Given the description of an element on the screen output the (x, y) to click on. 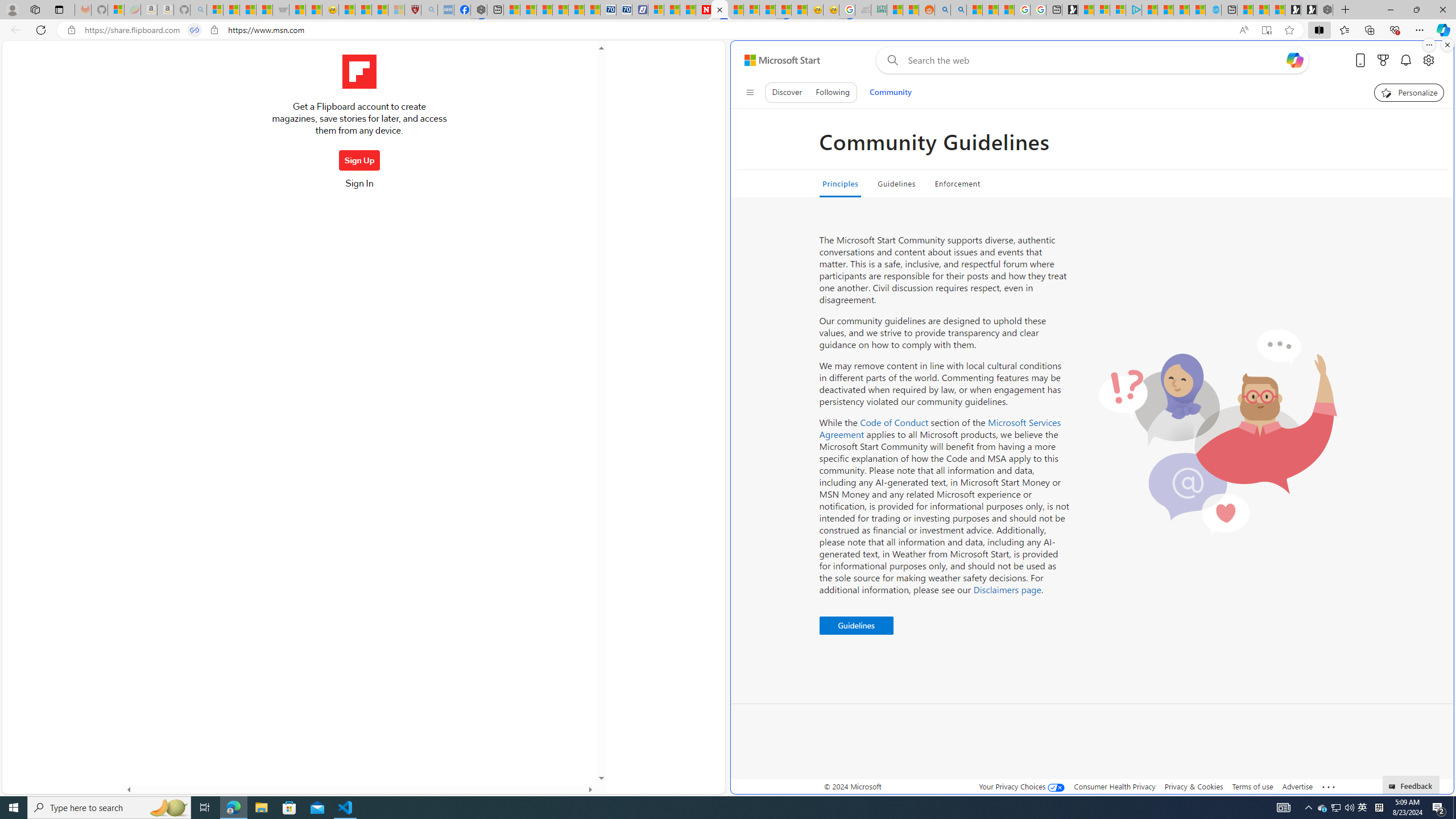
Microsoft-Report a Concern to Bing (116, 9)
Science - MSN (379, 9)
MSN (783, 9)
Privacy & Cookies (1193, 785)
Disclaimers page (1006, 589)
Class: logo (359, 71)
Sign In (359, 186)
